Given the description of an element on the screen output the (x, y) to click on. 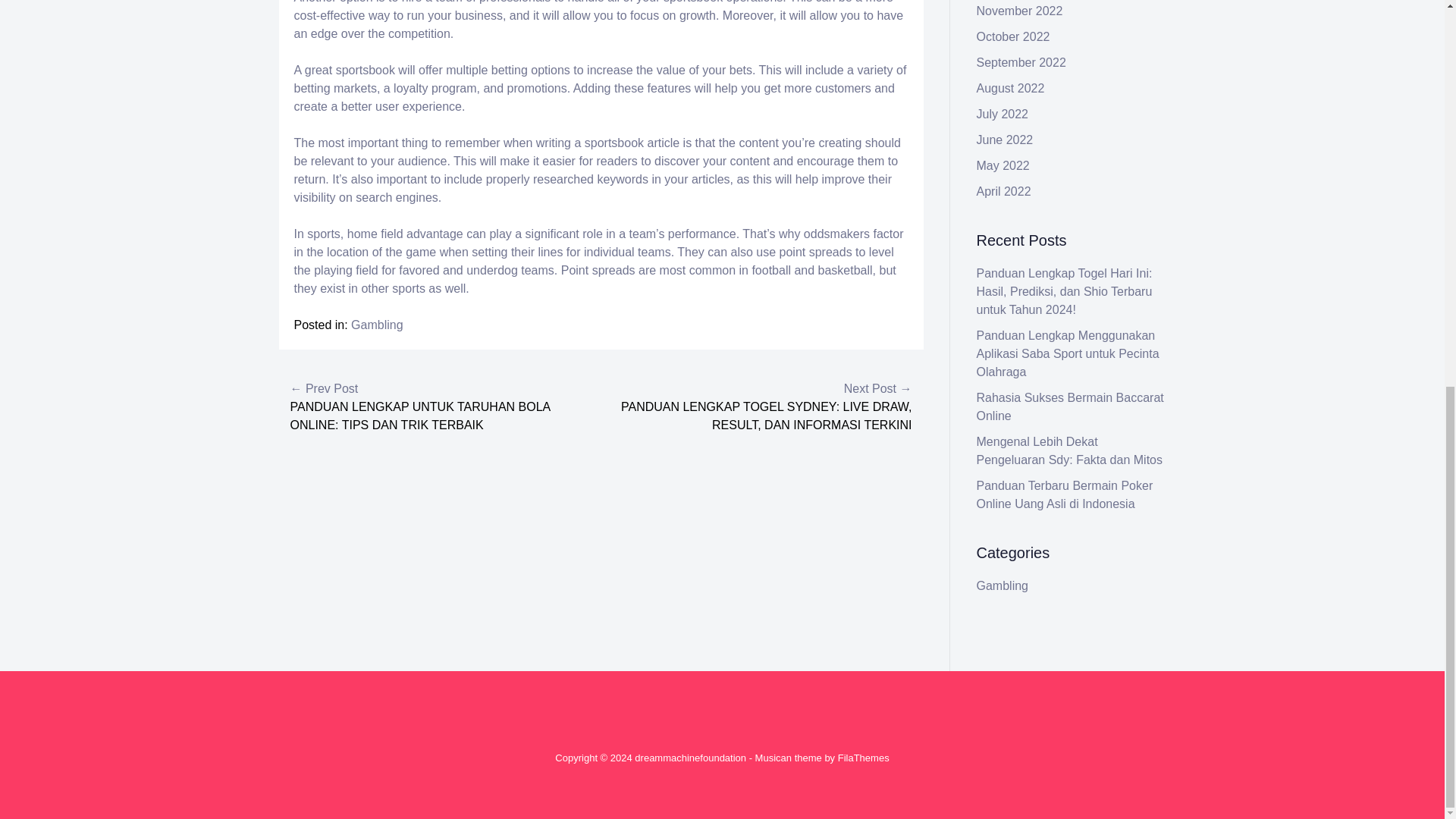
dreammachinefoundation (689, 757)
November 2022 (1019, 10)
August 2022 (1010, 88)
Gambling (376, 324)
September 2022 (1020, 62)
April 2022 (1003, 191)
July 2022 (1002, 113)
Rahasia Sukses Bermain Baccarat Online (1069, 406)
June 2022 (1004, 139)
October 2022 (1012, 36)
May 2022 (1002, 164)
